Given the description of an element on the screen output the (x, y) to click on. 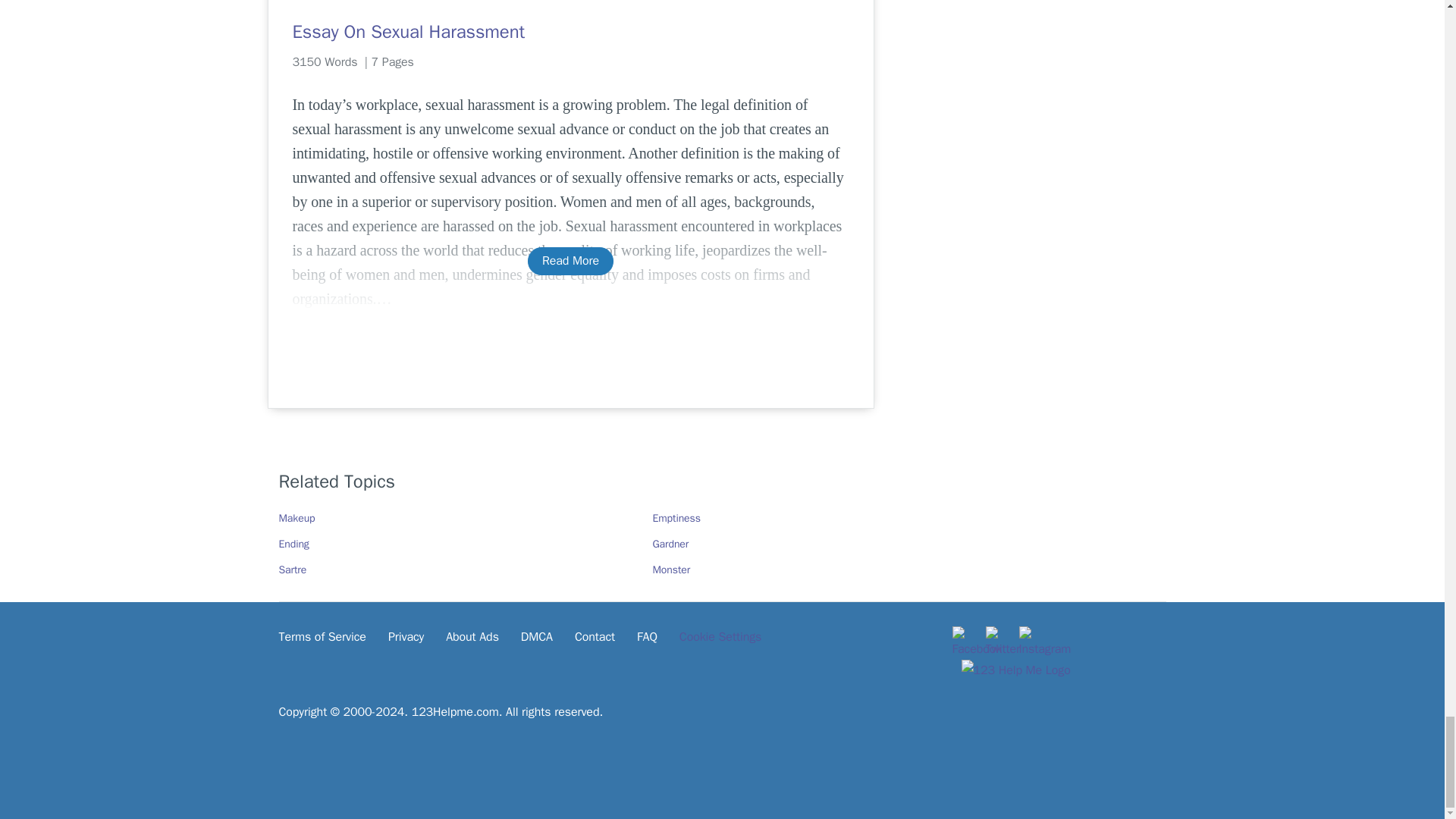
Monster (671, 569)
Emptiness (676, 517)
Ending (293, 543)
Gardner (670, 543)
Sartre (293, 569)
Makeup (297, 517)
